Given the description of an element on the screen output the (x, y) to click on. 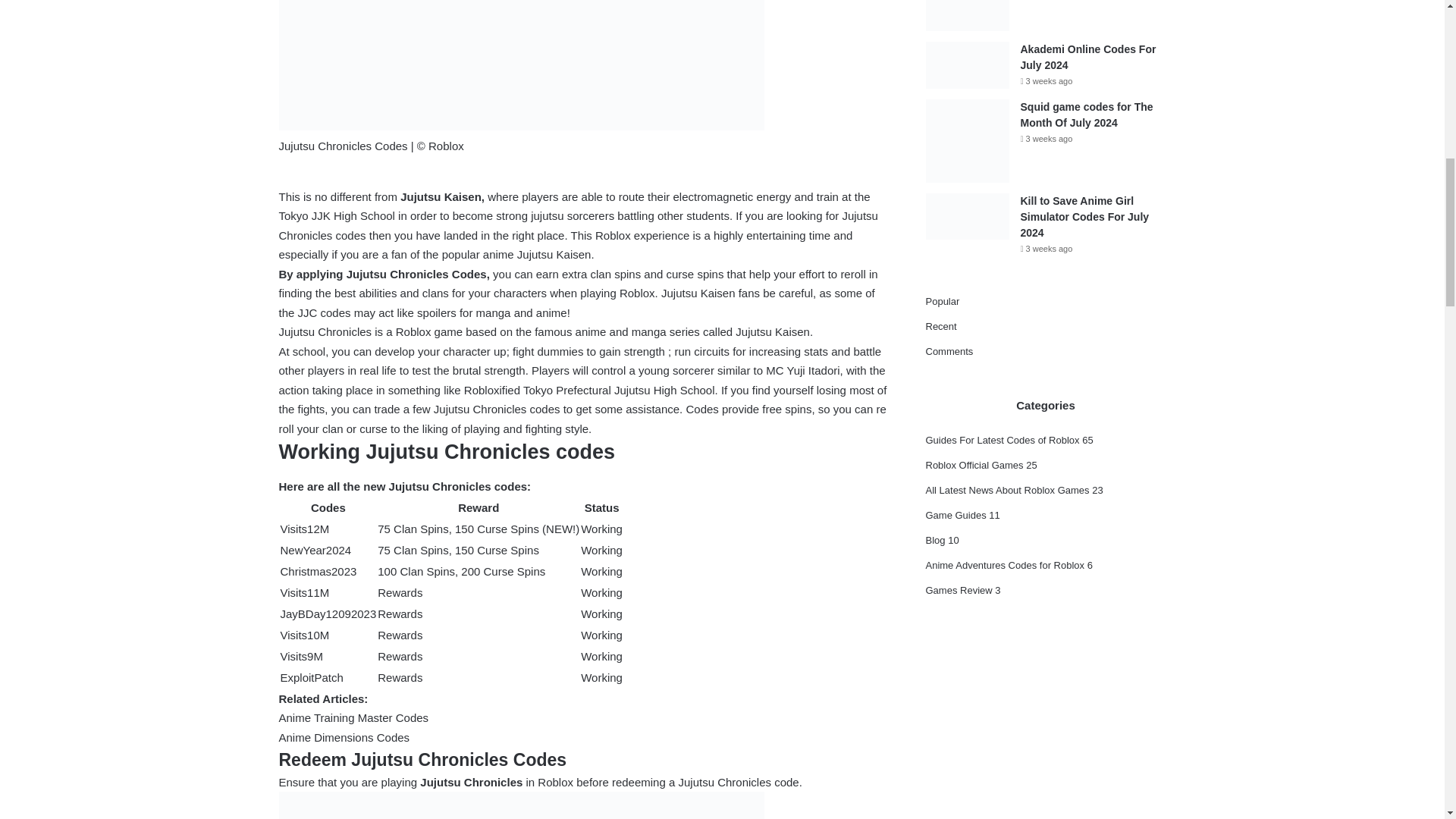
Anime Dimensions Codes (344, 737)
Jujutsu Chronicles (471, 781)
Anime Training Master Codes (354, 717)
Jujutsu Chronicles Codes For July 2024 (521, 65)
Jujutsu Chronicles Codes For July 2024 (521, 805)
